Given the description of an element on the screen output the (x, y) to click on. 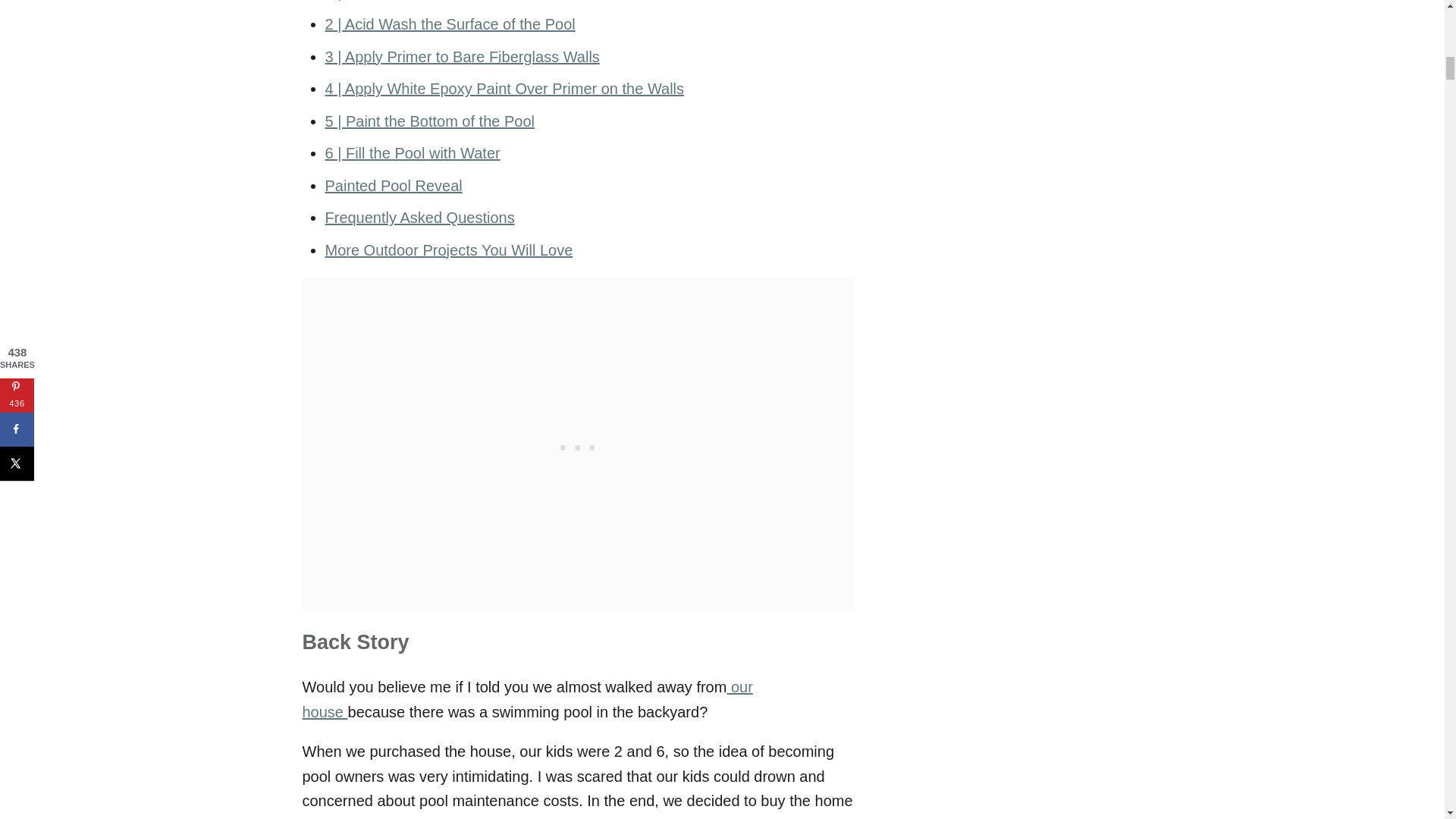
 our house  (526, 699)
Frequently Asked Questions (418, 217)
Painted Pool Reveal (392, 185)
More Outdoor Projects You Will Love (448, 249)
